Given the description of an element on the screen output the (x, y) to click on. 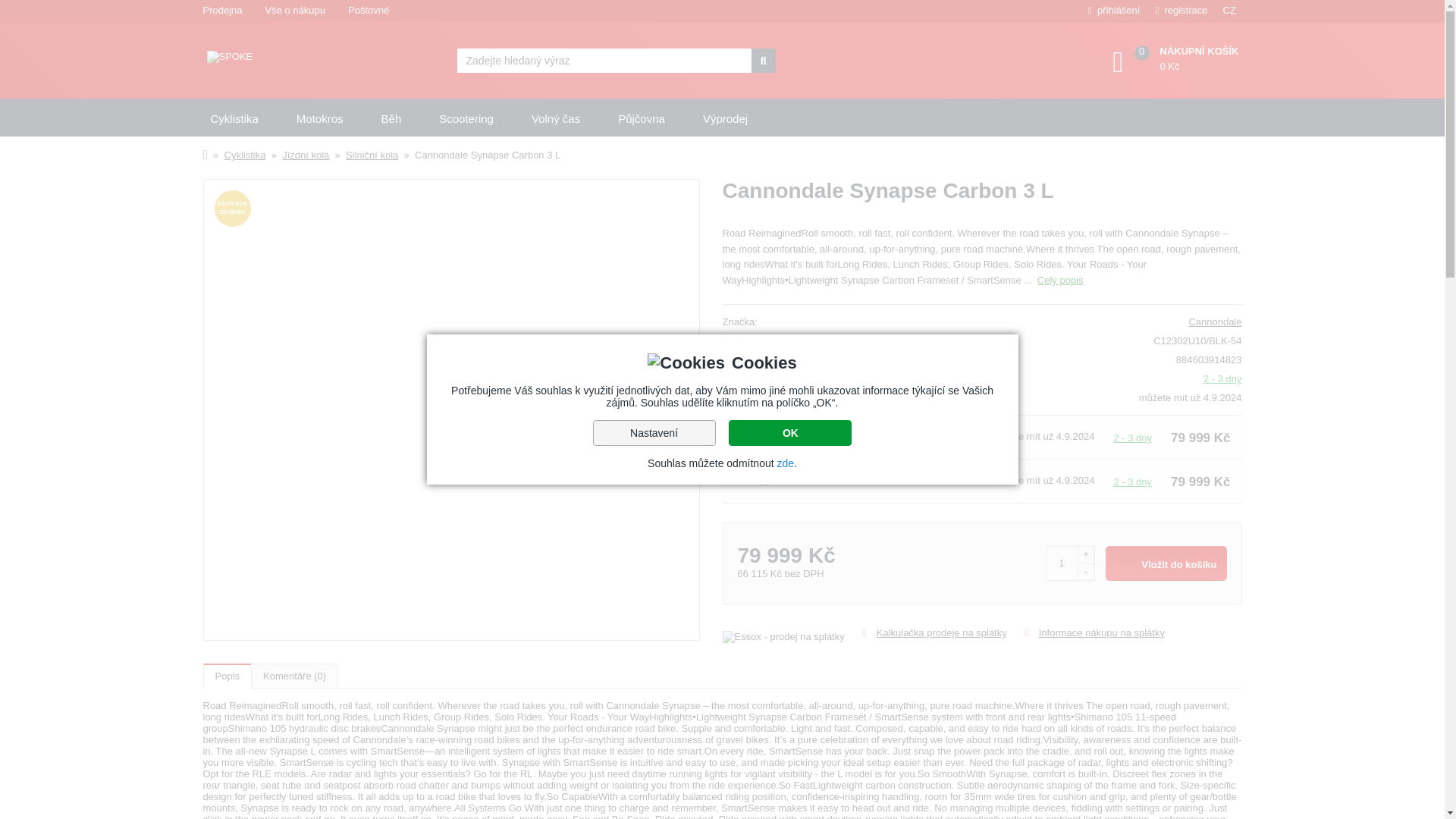
 registrace (1180, 10)
1 (1061, 563)
Cyklistika (233, 118)
Prodejna (221, 10)
